Given the description of an element on the screen output the (x, y) to click on. 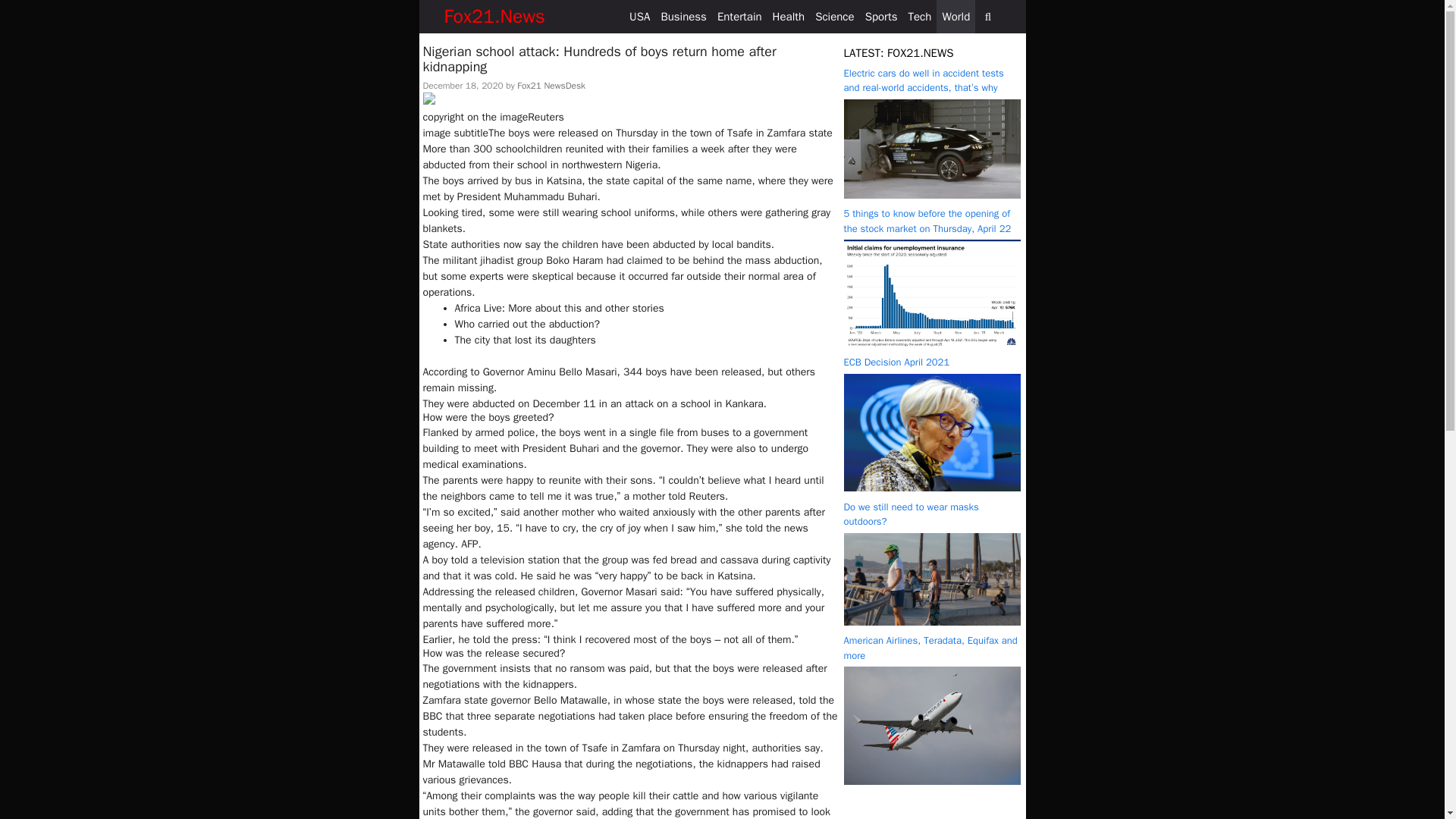
ECB Decision April 2021 (931, 487)
Fox21 NewsDesk (550, 85)
Sports (881, 16)
Health (788, 16)
Do we still need to wear masks outdoors? (910, 514)
Science (834, 16)
World (955, 16)
View all posts by Fox21 NewsDesk (550, 85)
USA (639, 16)
Entertain (739, 16)
Fox21.News (494, 16)
American Airlines, Teradata, Equifax and more (929, 647)
Tech (919, 16)
American Airlines, Teradata, Equifax and more (931, 780)
